Given the description of an element on the screen output the (x, y) to click on. 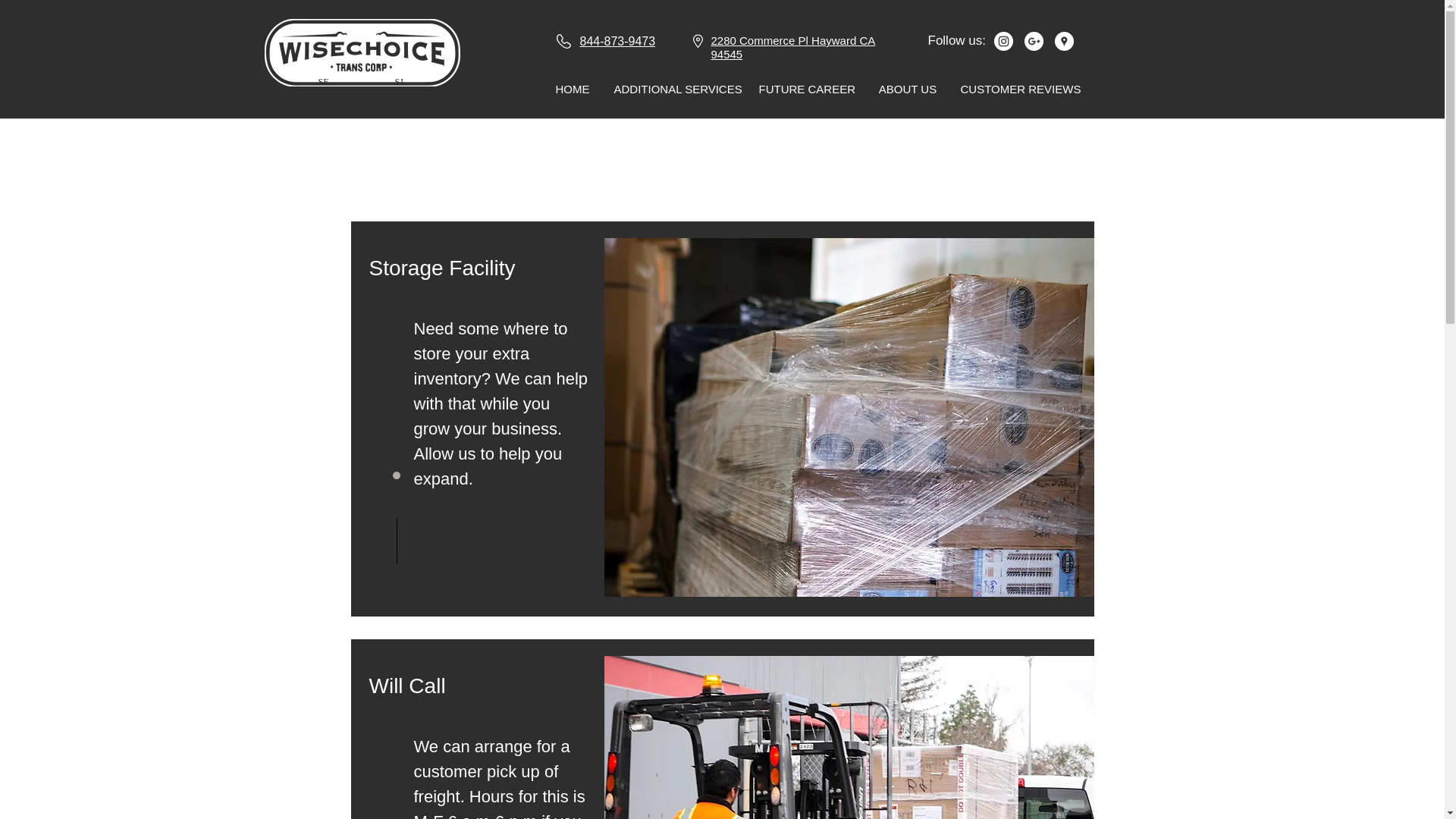
844-873-9473 (617, 41)
2280 Commerce Pl Hayward CA 94545 (793, 47)
ABOUT US (907, 89)
ADDITIONAL SERVICES (676, 89)
CUSTOMER REVIEWS (1018, 89)
FUTURE CAREER (806, 89)
HOME (572, 89)
